Given the description of an element on the screen output the (x, y) to click on. 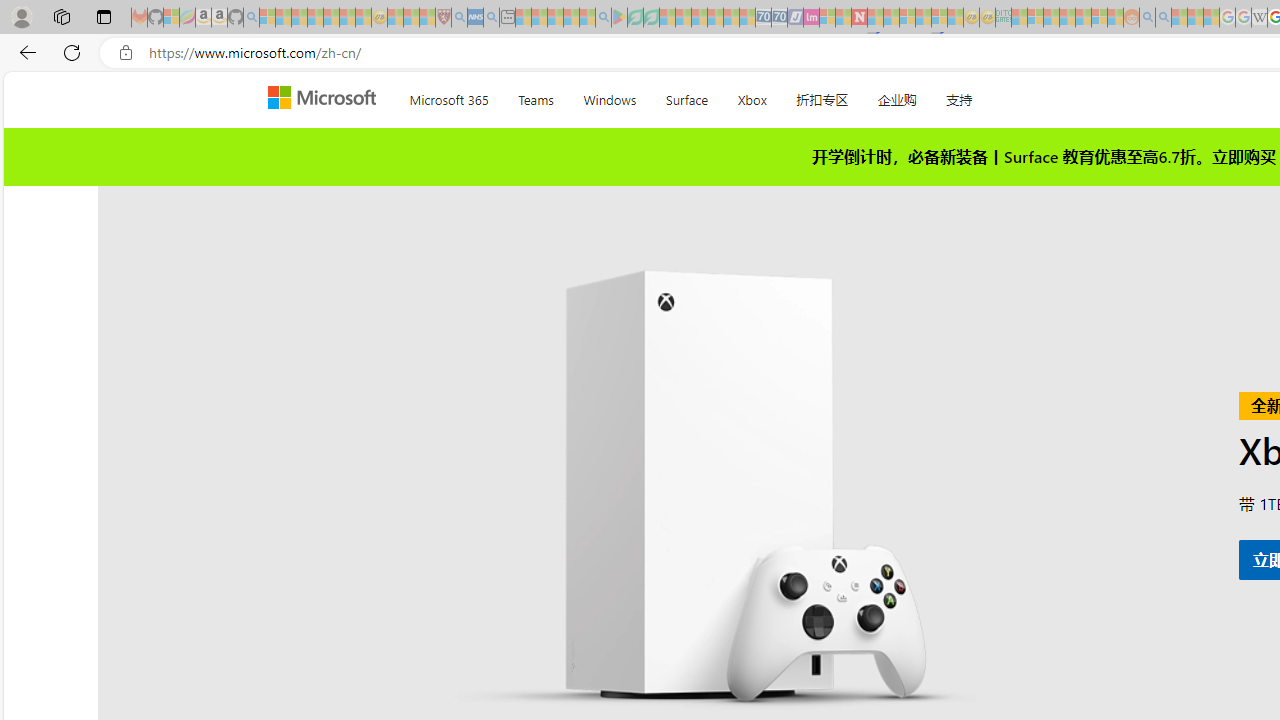
DITOGAMES AG Imprint - Sleeping (1003, 17)
list of asthma inhalers uk - Search - Sleeping (459, 17)
Microsoft Start - Sleeping (1179, 17)
Teams (536, 96)
Microsoft-Report a Concern to Bing - Sleeping (171, 17)
Xbox (751, 96)
Surface (686, 96)
Windows (609, 96)
Expert Portfolios - Sleeping (1067, 17)
